Given the description of an element on the screen output the (x, y) to click on. 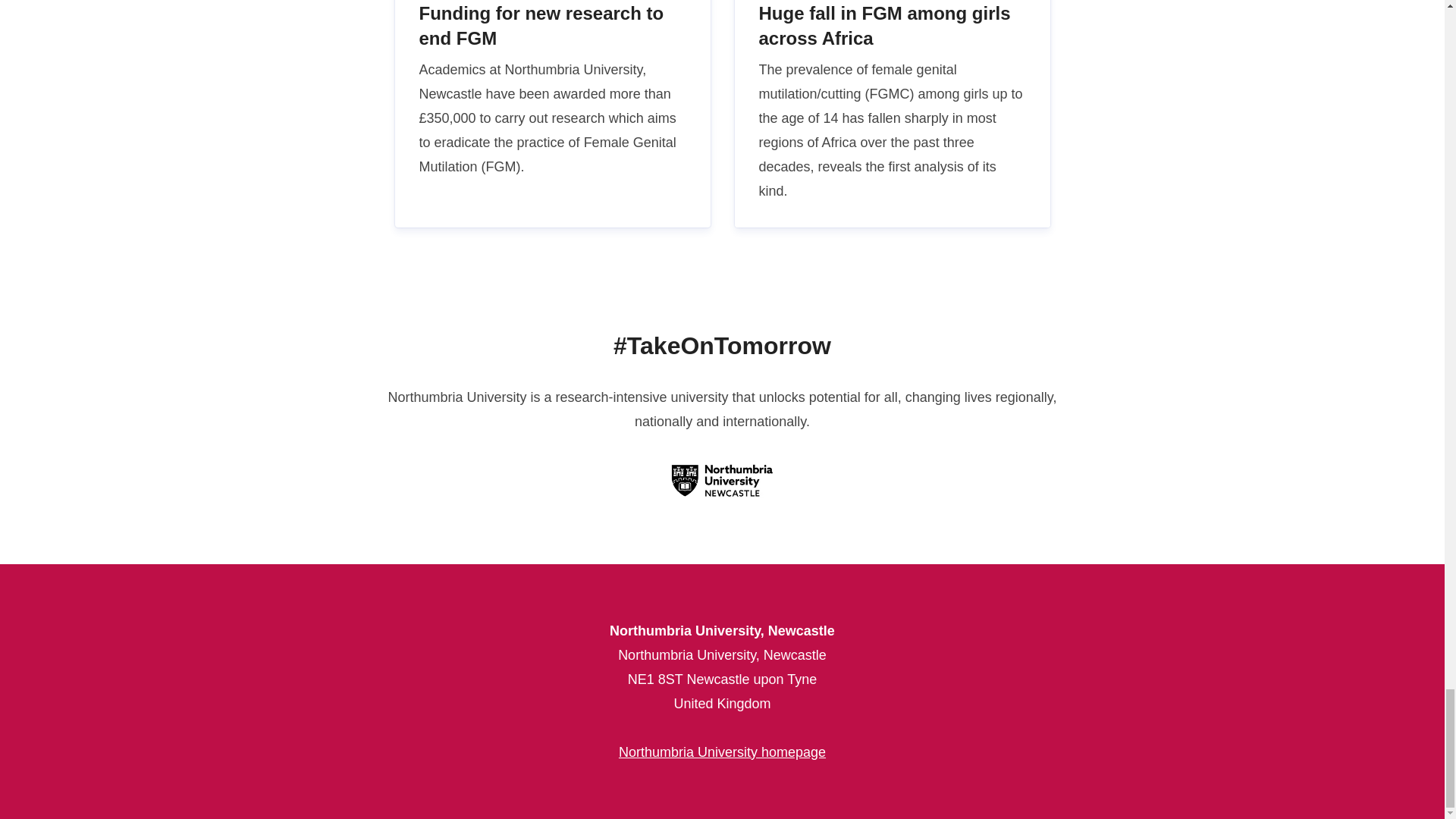
Huge fall in FGM among girls across Africa (891, 113)
Funding for new research to end FGM (552, 113)
